Given the description of an element on the screen output the (x, y) to click on. 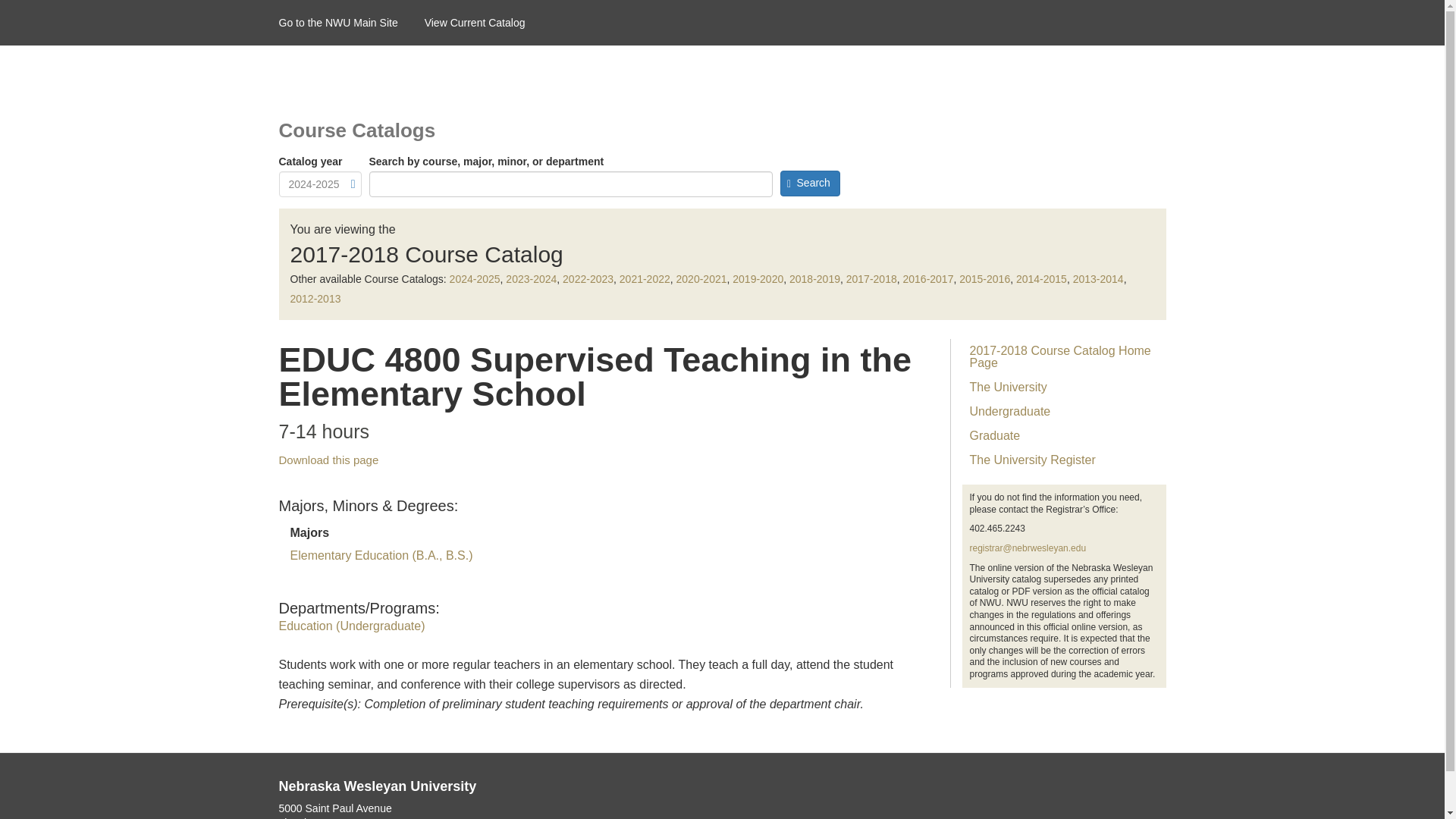
2024-2025 (474, 278)
2016-2017 (927, 278)
2012-2013 (314, 298)
Search (809, 183)
View Current Catalog (488, 22)
2019-2020 (757, 278)
2013-2014 (1098, 278)
2015-2016 (984, 278)
2017-2018 (870, 278)
